Given the description of an element on the screen output the (x, y) to click on. 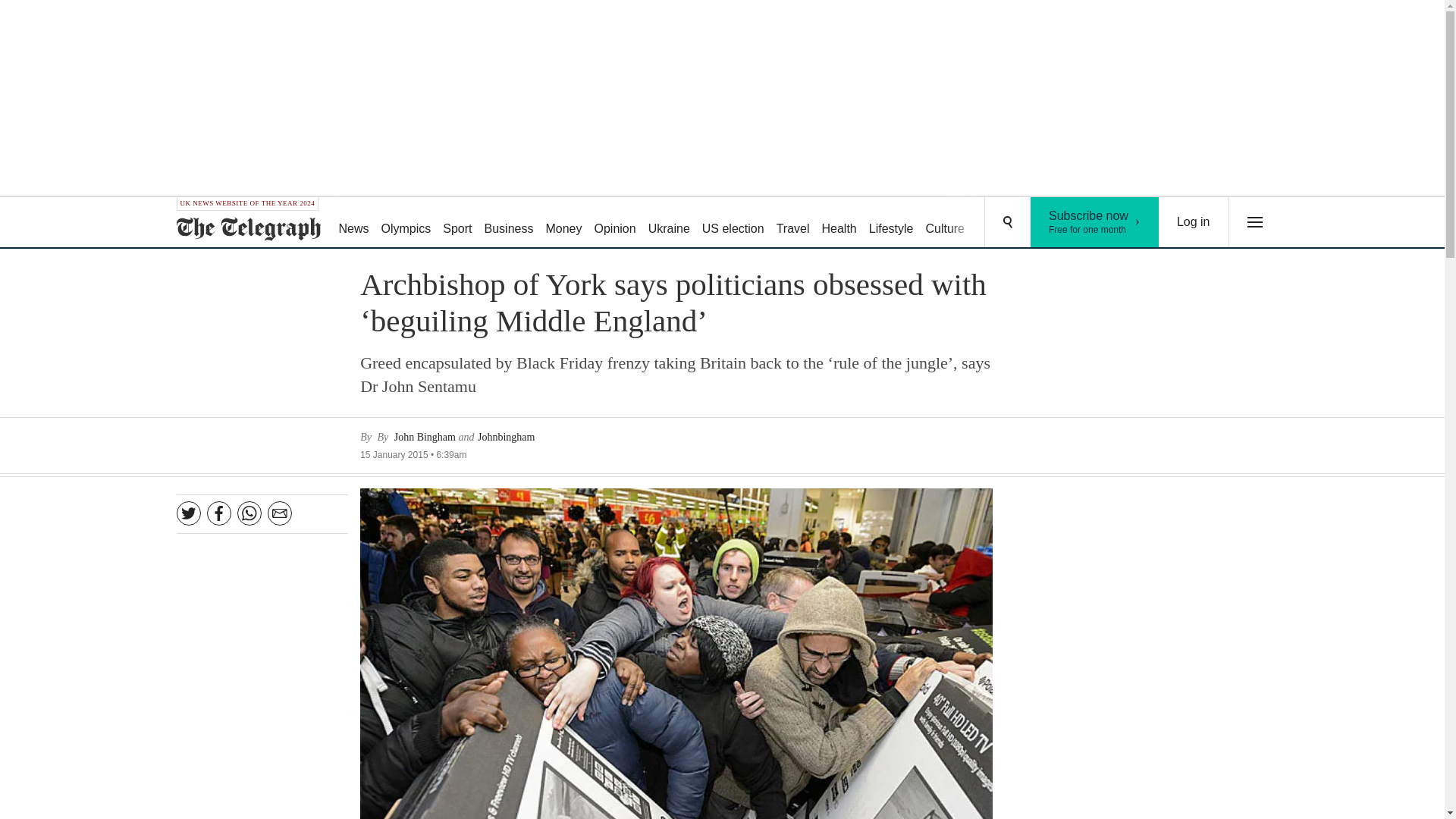
Olympics (406, 223)
Travel (792, 223)
US election (732, 223)
Podcasts (1056, 223)
Money (563, 223)
Log in (1193, 222)
Culture (944, 223)
Puzzles (998, 223)
Lifestyle (891, 223)
Ukraine (668, 223)
Business (509, 223)
Health (838, 223)
Opinion (615, 223)
